Given the description of an element on the screen output the (x, y) to click on. 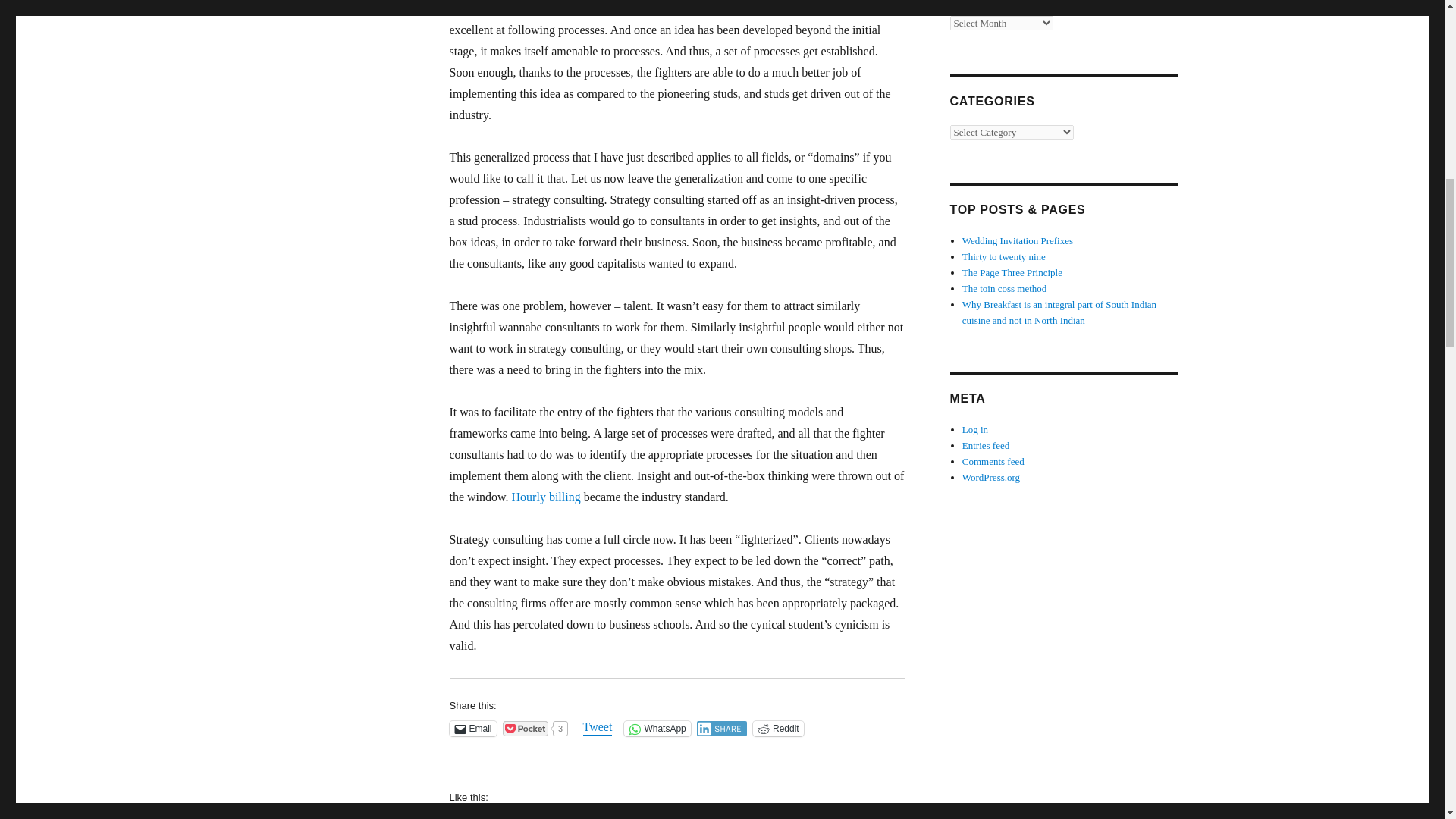
Email (472, 728)
Click to email a link to a friend (472, 728)
Click to share on Reddit (777, 728)
Hourly billing (546, 496)
WhatsApp (657, 728)
Like or Reblog (676, 816)
Reddit (777, 728)
SHARE (721, 728)
Click to share on WhatsApp (657, 728)
Tweet (597, 727)
